Given the description of an element on the screen output the (x, y) to click on. 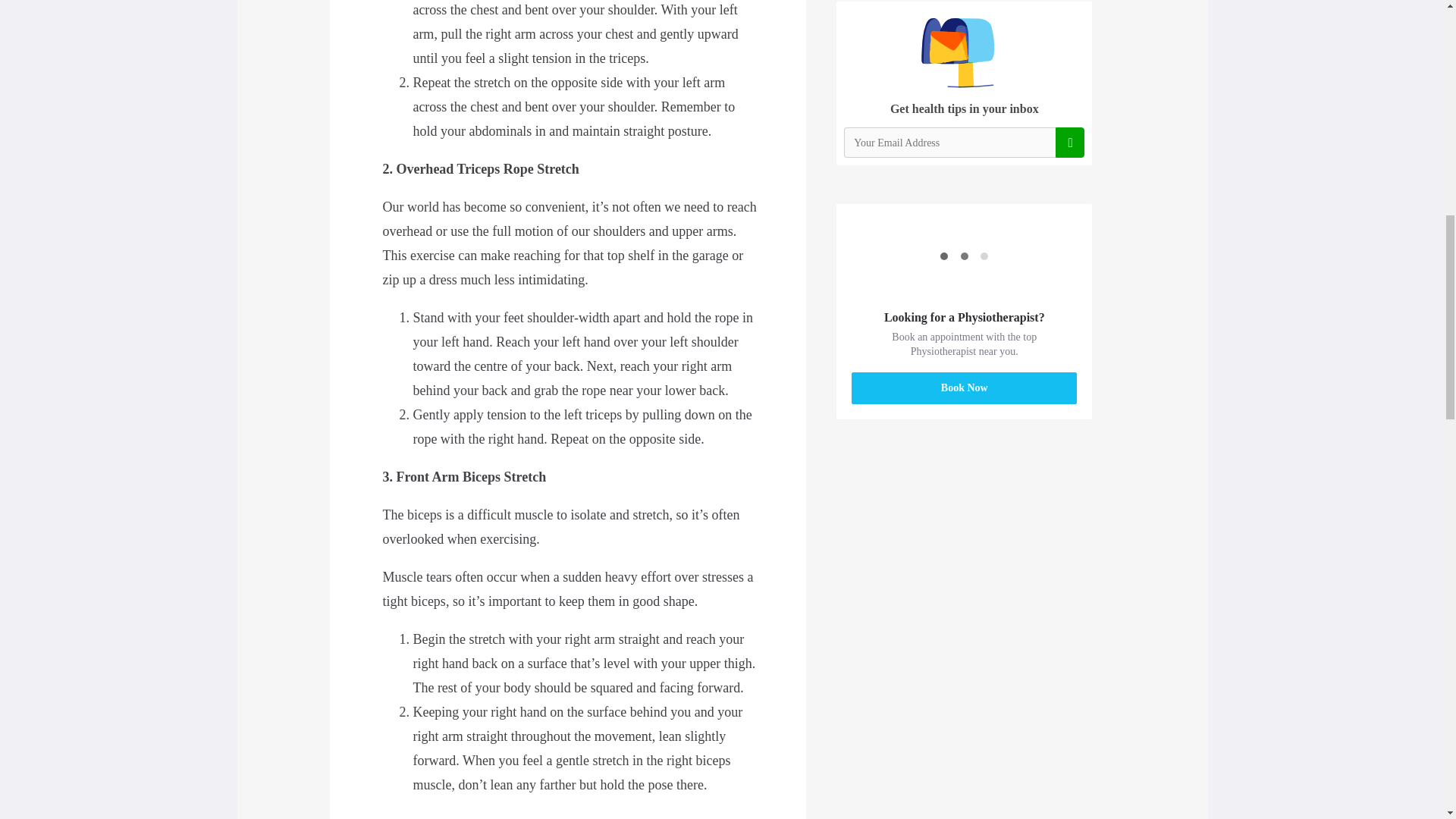
Book Now (964, 388)
